Given the description of an element on the screen output the (x, y) to click on. 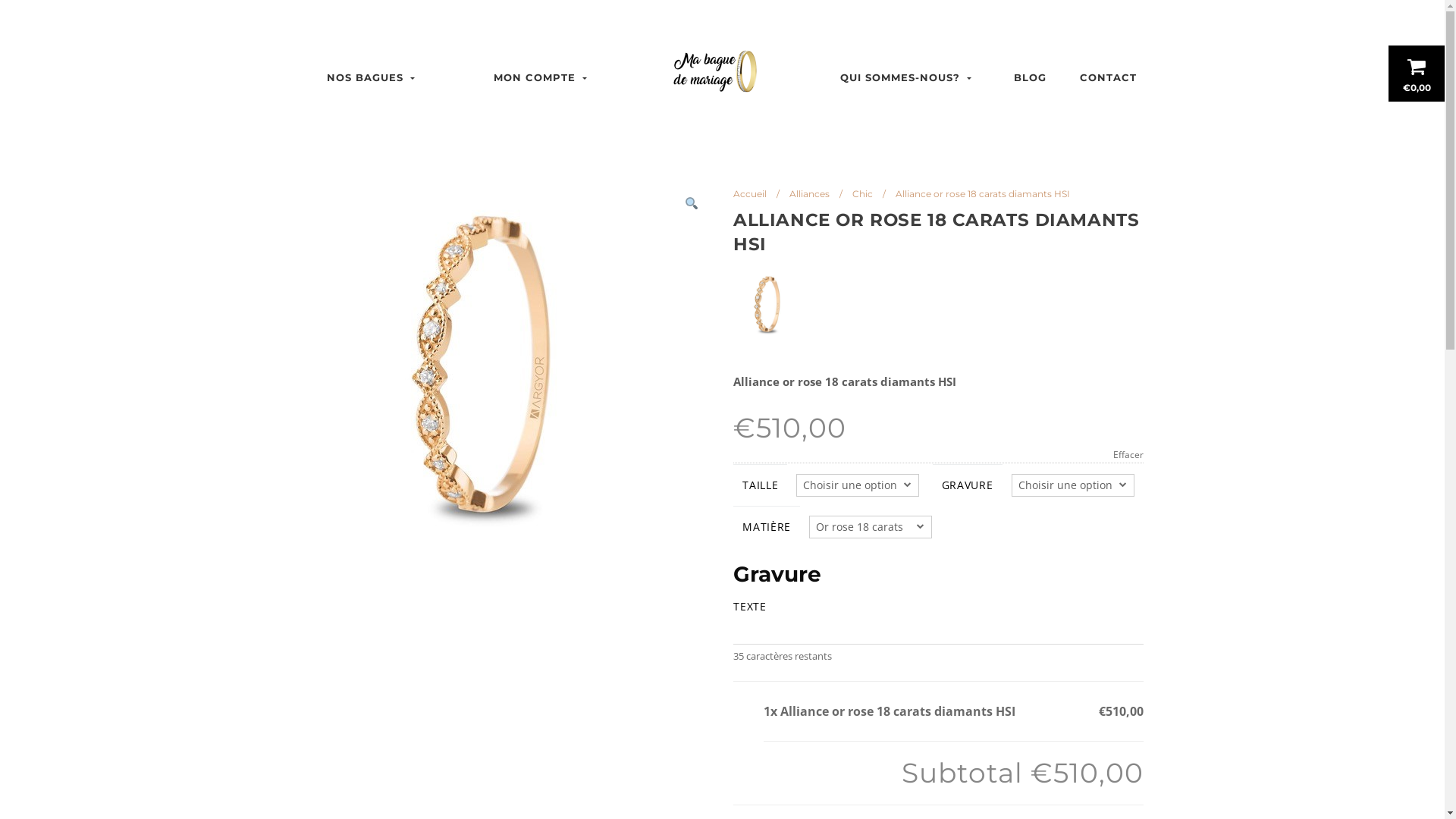
MON COMPTE Element type: text (541, 77)
BLOG Element type: text (1030, 77)
Alliances Element type: text (809, 193)
CONTACT Element type: text (1108, 77)
QUI SOMMES-NOUS? Element type: text (907, 77)
74R0173 Element type: hover (483, 367)
NOS BAGUES Element type: text (372, 77)
Chic Element type: text (862, 193)
Only letters and numbers Element type: hover (937, 631)
Accueil Element type: text (749, 193)
Effacer Element type: text (937, 454)
